Given the description of an element on the screen output the (x, y) to click on. 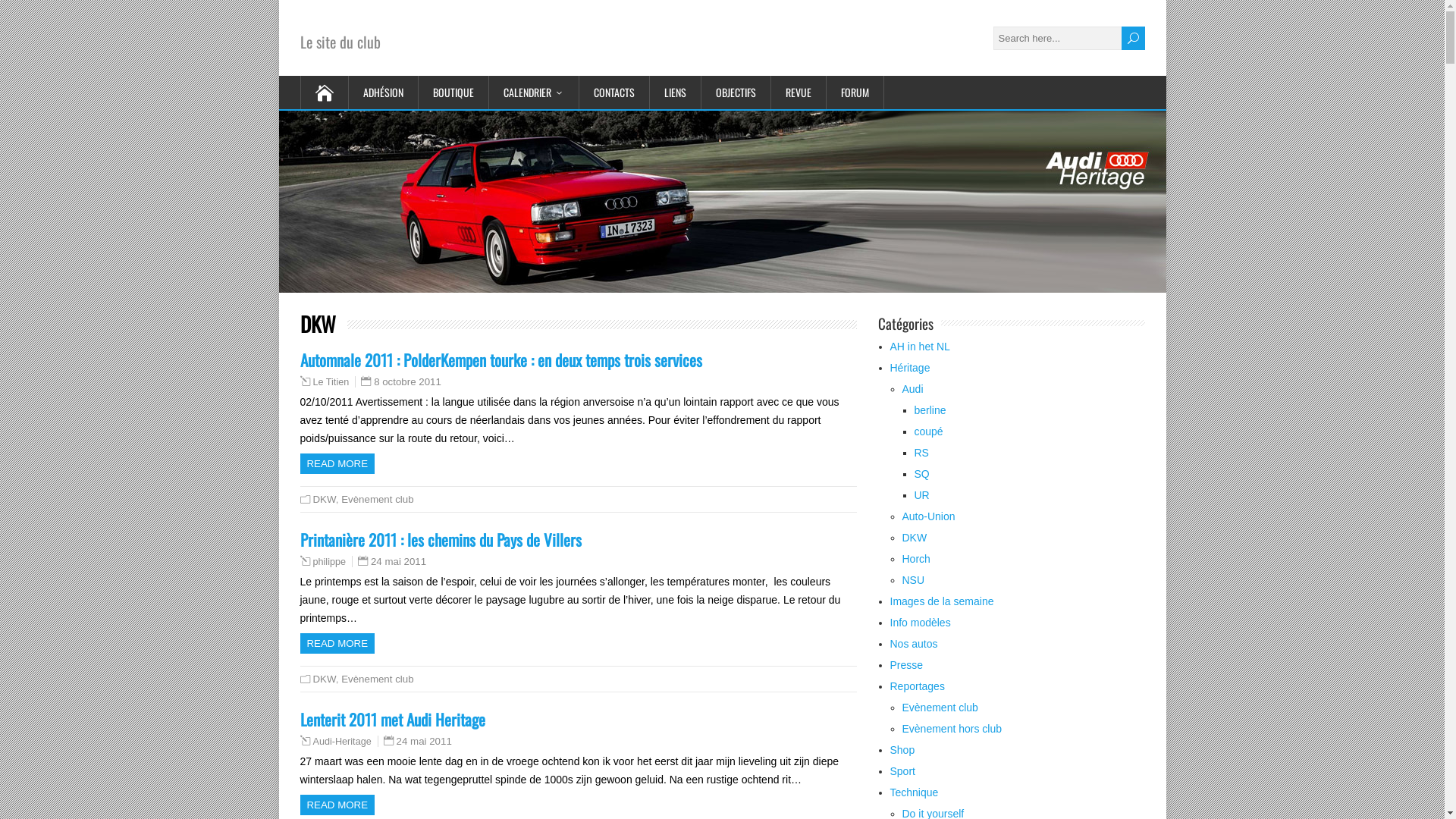
LIENS Element type: text (675, 92)
READ MORE Element type: text (337, 643)
Reportages Element type: text (917, 686)
NSU Element type: text (913, 580)
READ MORE Element type: text (337, 804)
UR Element type: text (921, 495)
berline Element type: text (930, 410)
DKW Element type: text (323, 678)
Sport Element type: text (902, 771)
Images de la semaine Element type: text (942, 601)
U Element type: text (1132, 38)
REVUE Element type: text (798, 92)
READ MORE Element type: text (337, 463)
BOUTIQUE Element type: text (453, 92)
AH in het NL Element type: text (920, 346)
philippe Element type: text (328, 561)
CONTACTS Element type: text (614, 92)
RS Element type: text (921, 452)
8 octobre 2011 Element type: text (407, 381)
Technique Element type: text (914, 792)
CALENDRIER Element type: text (533, 92)
Le Titien Element type: text (330, 381)
DKW Element type: text (323, 499)
SQ Element type: text (921, 473)
Lenterit 2011 met Audi Heritage Element type: text (392, 719)
Horch Element type: text (916, 558)
Audi-Heritage Element type: text (341, 741)
Nos autos Element type: text (914, 643)
Shop Element type: text (902, 749)
Presse Element type: text (906, 664)
OBJECTIFS Element type: text (736, 92)
FORUM Element type: text (855, 92)
Audi Element type: text (912, 388)
24 mai 2011 Element type: text (398, 561)
Auto-Union Element type: text (928, 516)
DKW Element type: text (914, 537)
24 mai 2011 Element type: text (423, 740)
